Given the description of an element on the screen output the (x, y) to click on. 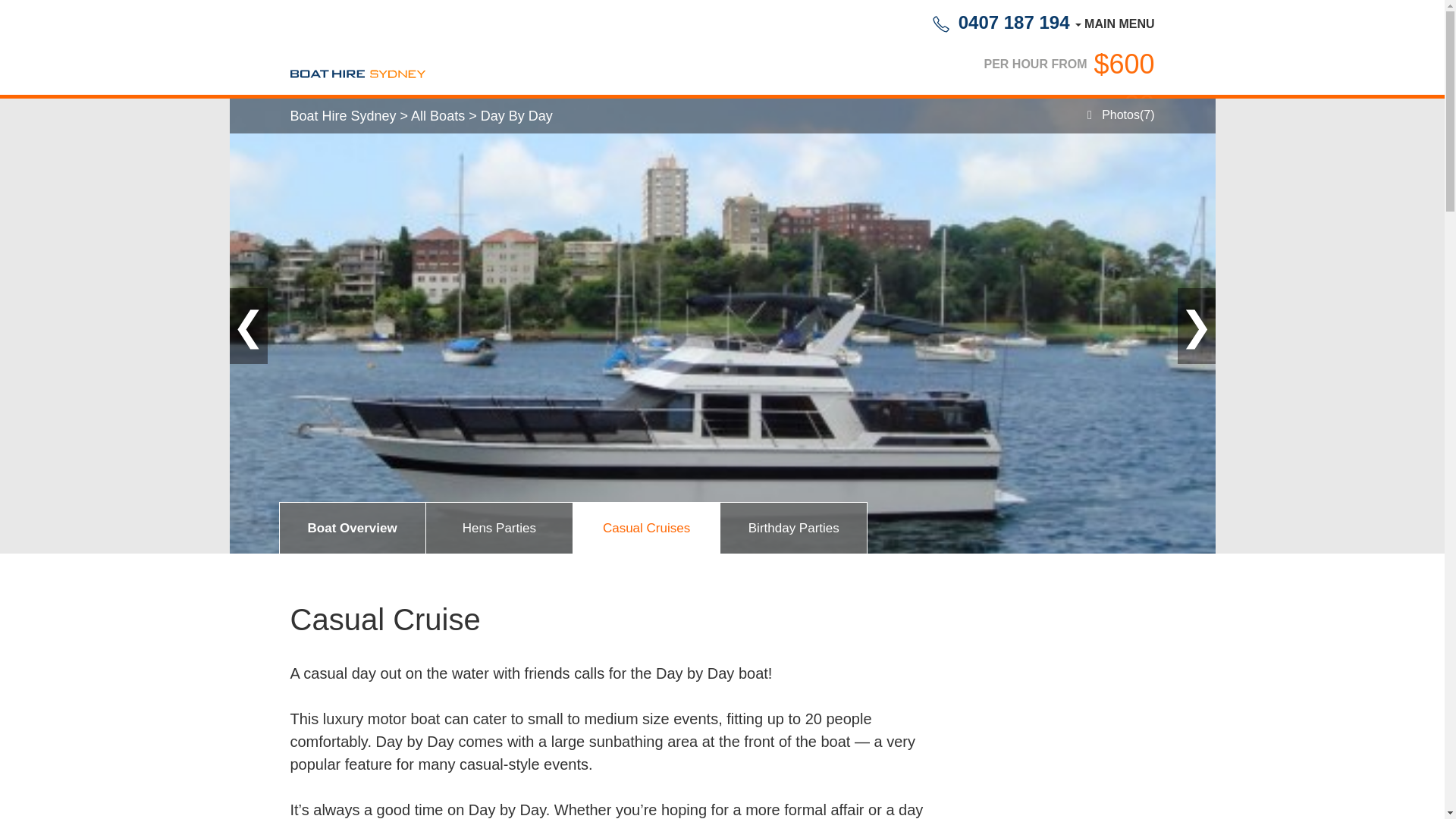
Boat Overview (352, 528)
All Boats (437, 116)
MAIN MENU (1112, 23)
Hens Parties (499, 528)
Casual Cruises (646, 528)
Birthday Parties (794, 528)
0407 187 194 (1000, 22)
Boat Hire Sydney (343, 116)
